Given the description of an element on the screen output the (x, y) to click on. 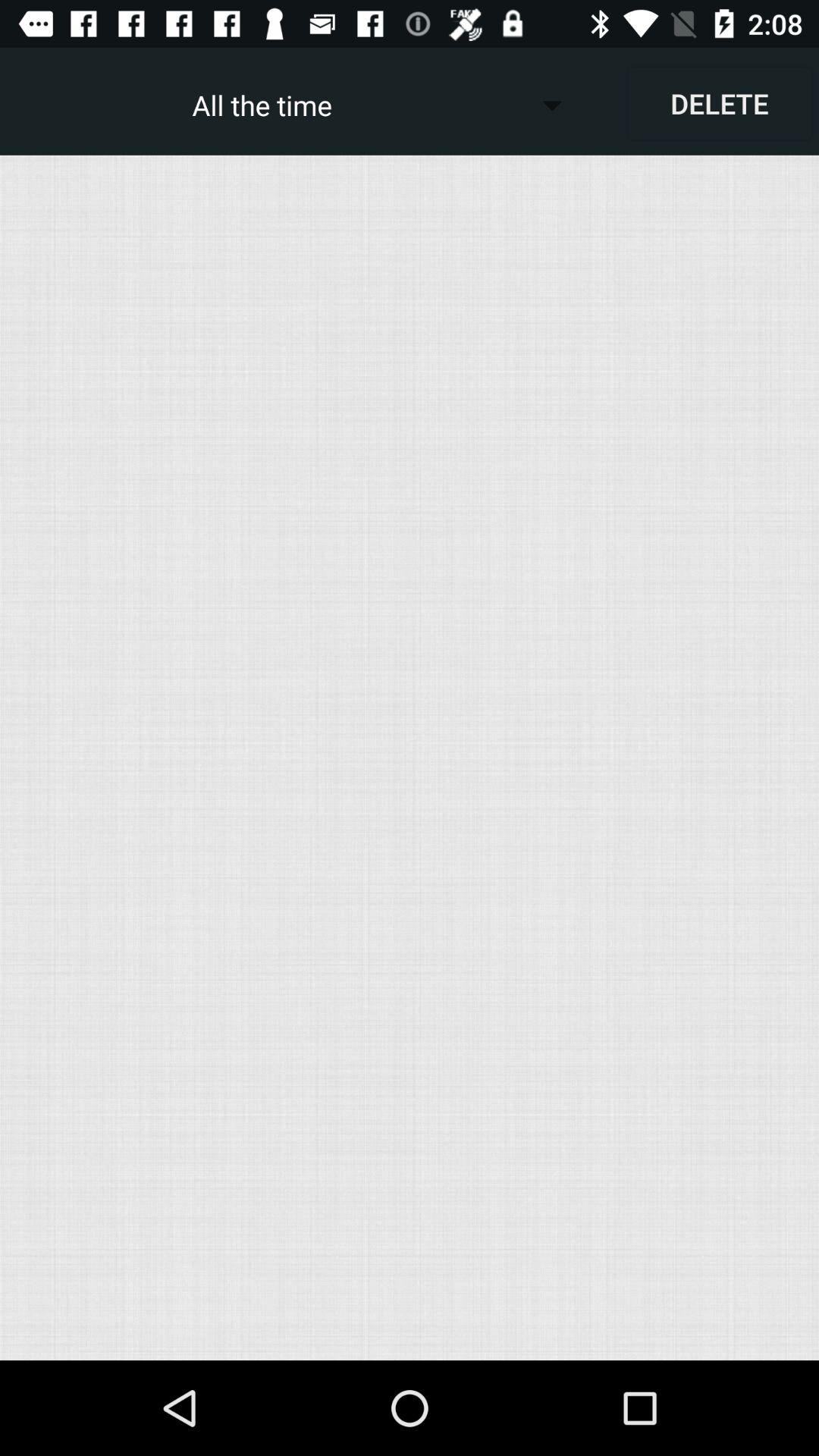
launch item to the right of the all the time icon (719, 103)
